Given the description of an element on the screen output the (x, y) to click on. 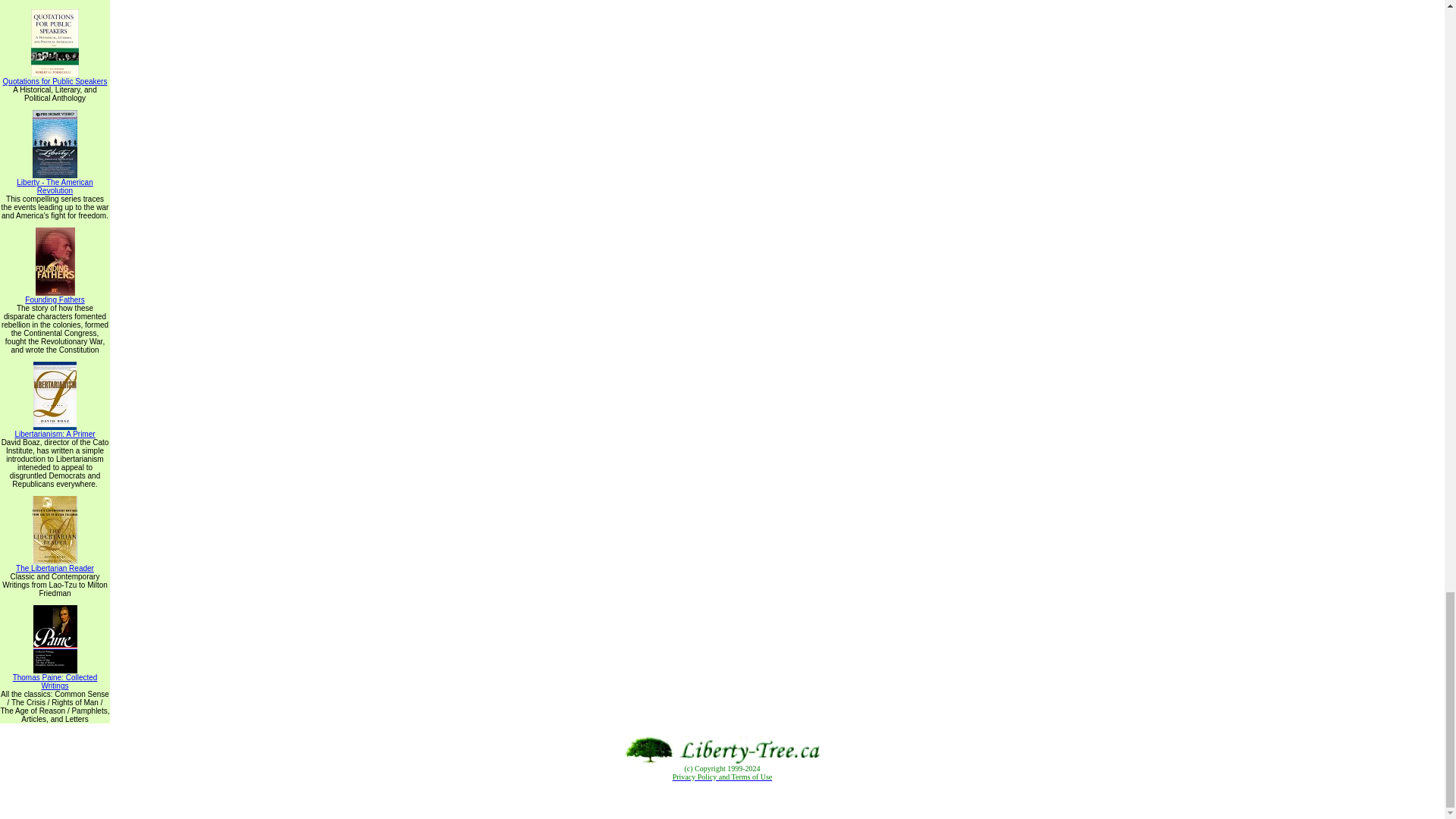
The Libertarian Reader (55, 564)
Thomas Paine: Collected Writings (55, 678)
Quotations for Public Speakers (54, 77)
Liberty - The American Revolution (54, 182)
Founding Fathers (54, 296)
Libertarianism: A Primer (54, 430)
